Given the description of an element on the screen output the (x, y) to click on. 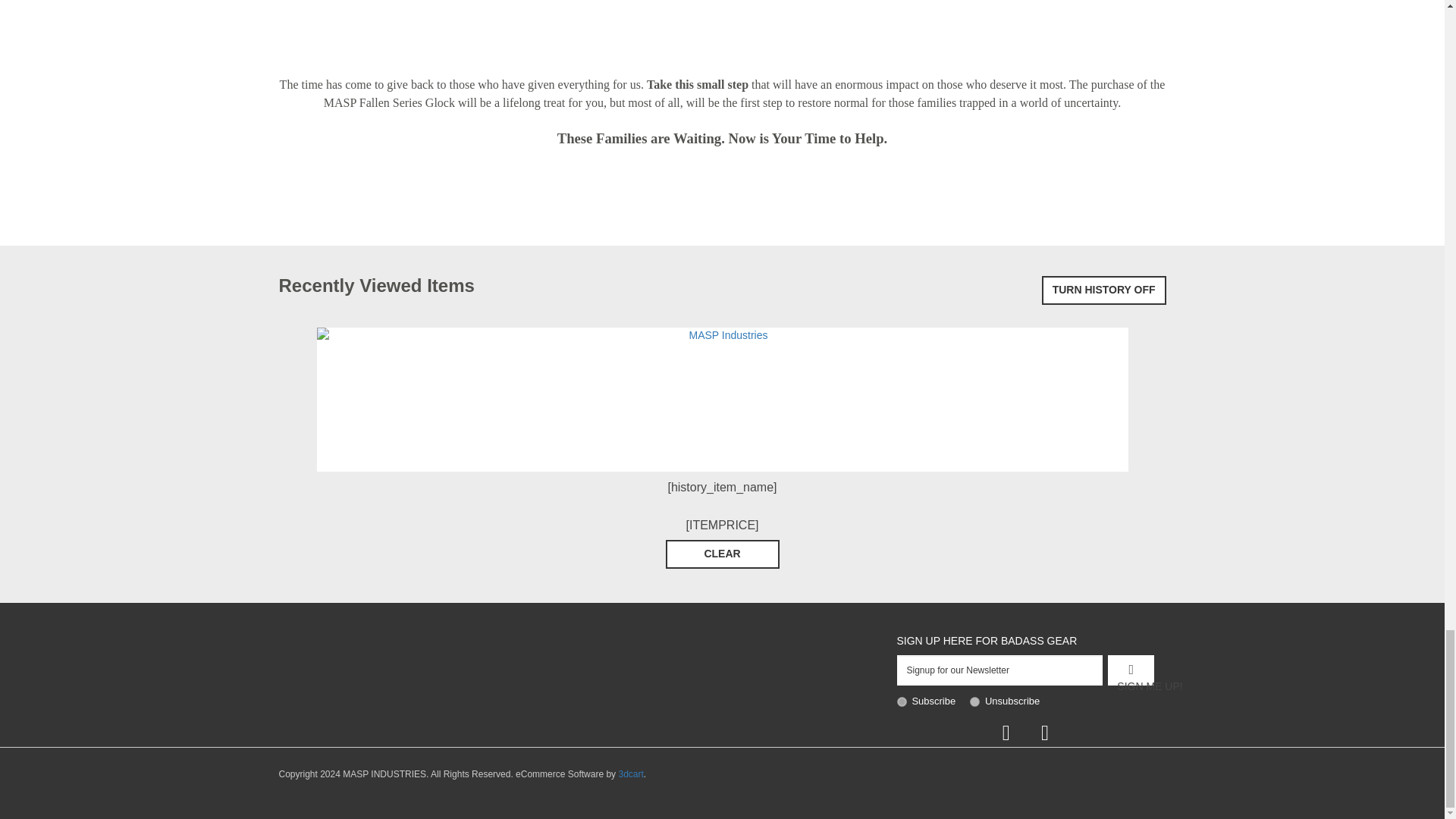
Follow Us on Instagram (1044, 732)
Like Us on Facebook (1005, 732)
1 (900, 701)
0 (974, 701)
